Given the description of an element on the screen output the (x, y) to click on. 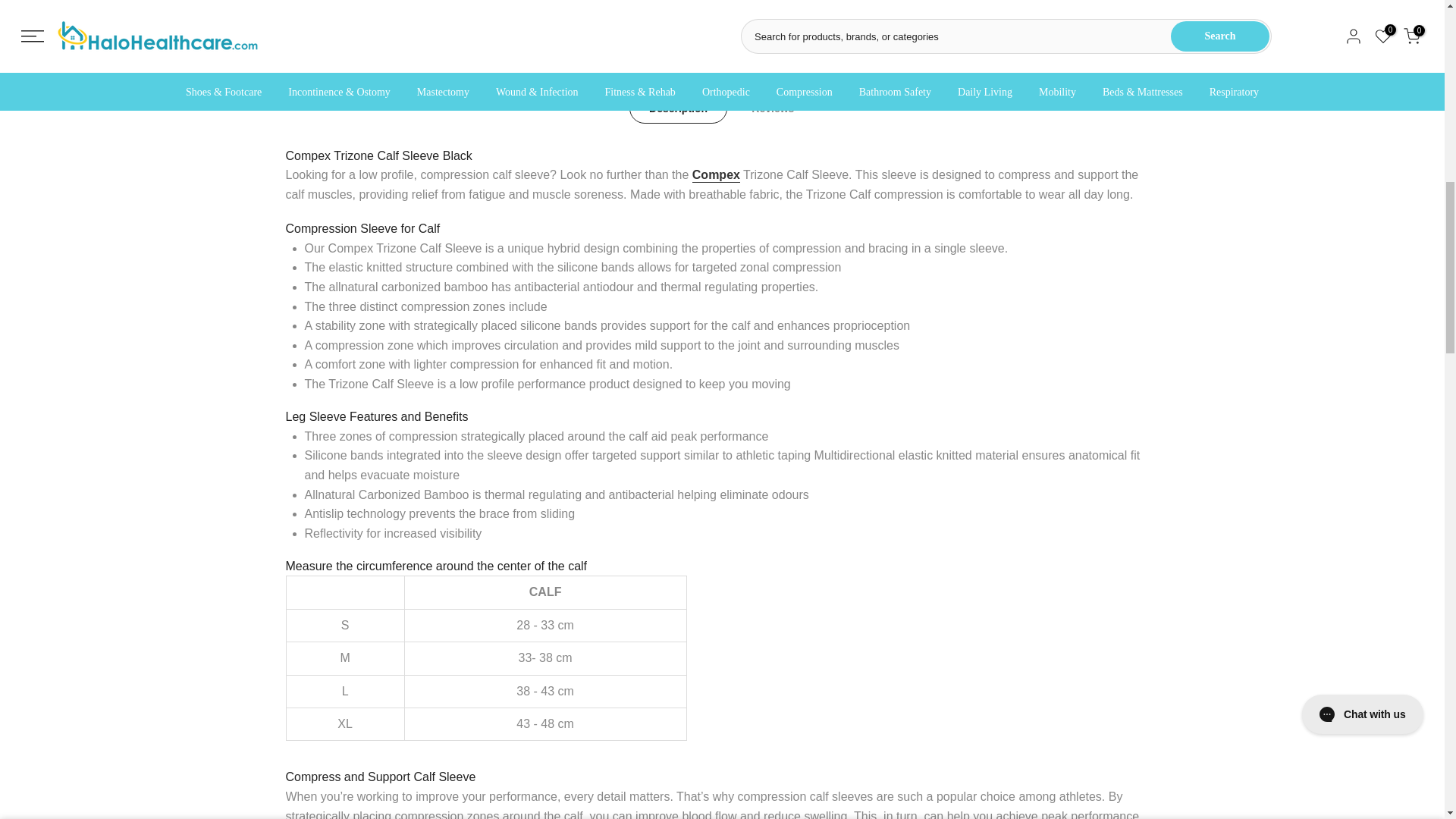
1 (822, 35)
Compex (716, 175)
